Given the description of an element on the screen output the (x, y) to click on. 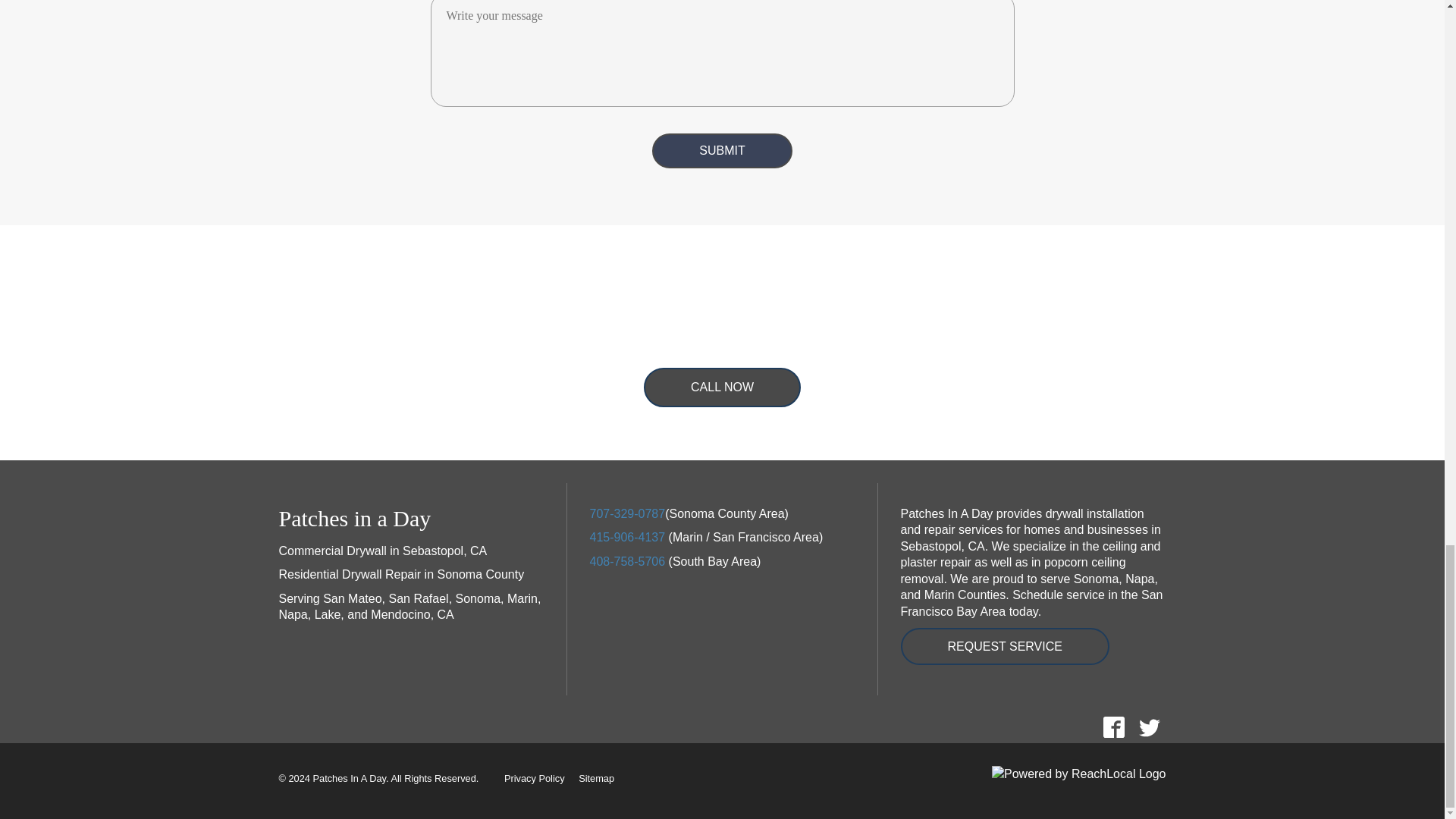
Submit (722, 150)
facebook (1113, 726)
twitter (1149, 726)
